Given the description of an element on the screen output the (x, y) to click on. 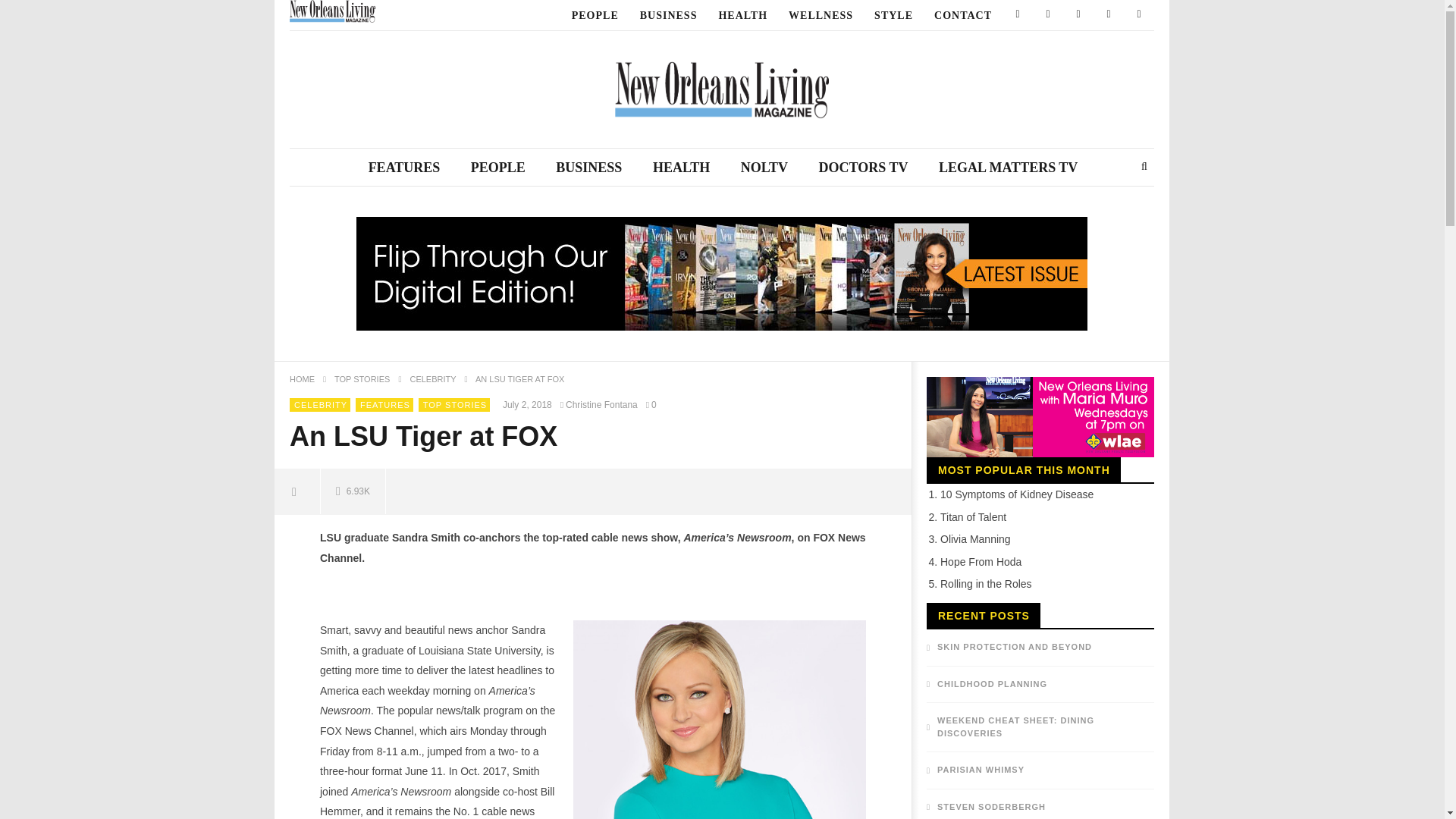
View all posts in FEATURES (384, 404)
WELLNESS (820, 15)
Facebook (1017, 15)
PEOPLE (594, 15)
Vimeo (1139, 15)
CONTACT (963, 15)
View all posts in CELEBRITY (320, 404)
Instagram (1108, 15)
Pinterest (1077, 15)
View all posts in TOP STORIES (454, 404)
